Given the description of an element on the screen output the (x, y) to click on. 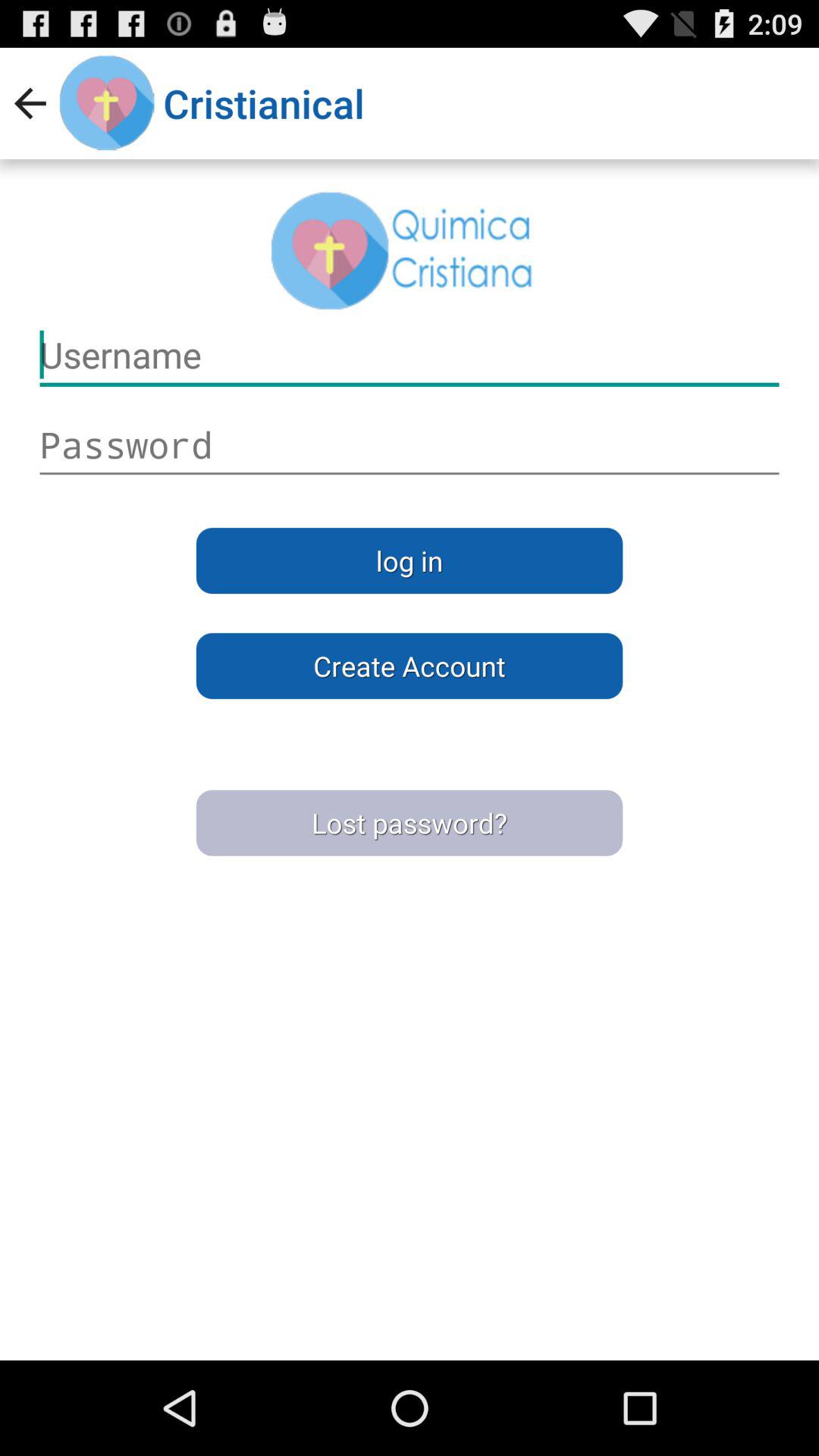
swipe to the log in (409, 560)
